Given the description of an element on the screen output the (x, y) to click on. 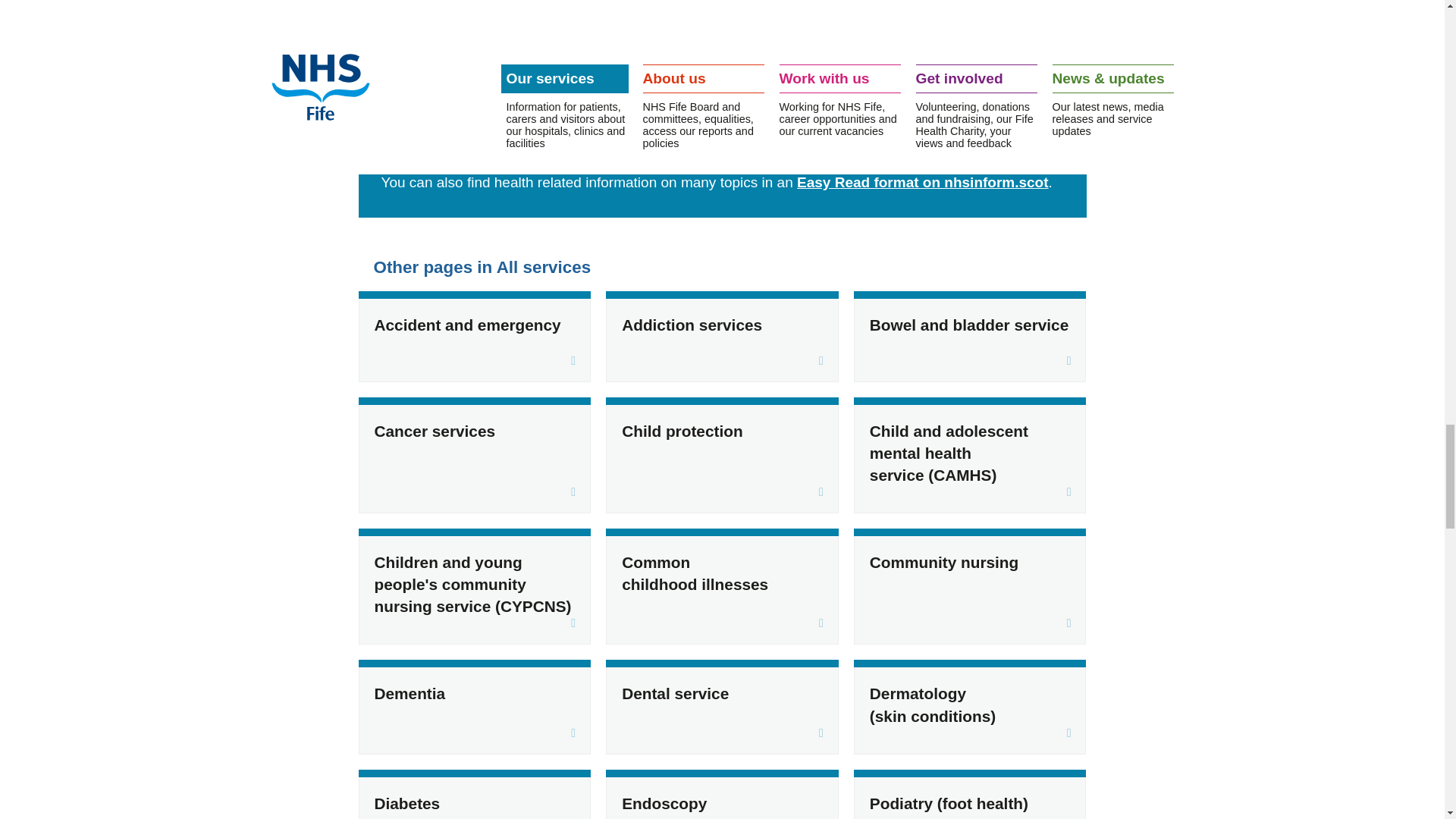
community language (670, 68)
01592 729130 (766, 118)
Translations and Accessible Formats (670, 68)
Easy Read format on nhsinform.scot (922, 182)
